Given the description of an element on the screen output the (x, y) to click on. 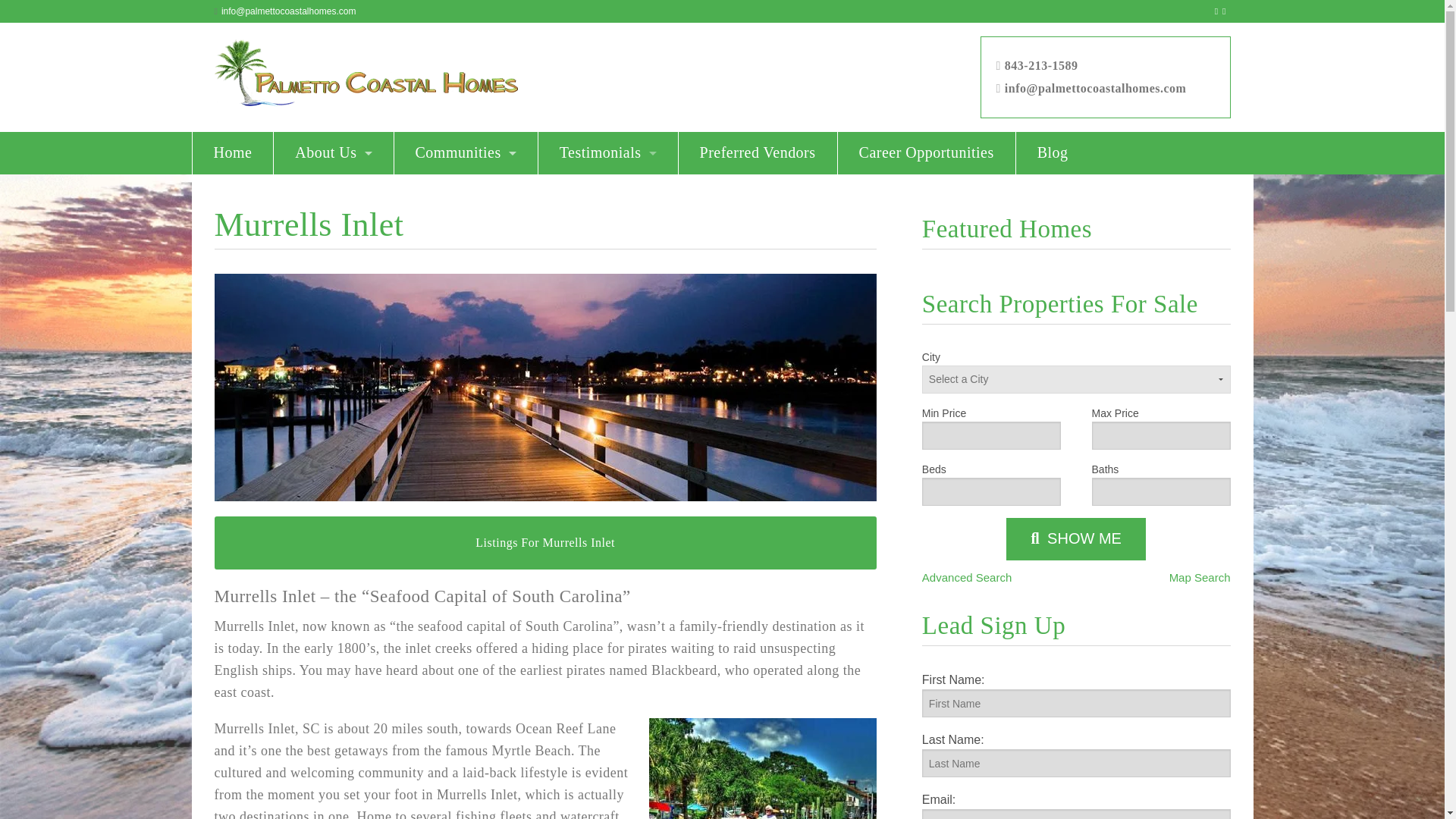
Murrells Inlet (465, 238)
Advanced Search (966, 578)
North Myrtle Beach (465, 322)
Preferred Vendors (757, 152)
Career Opportunities (926, 152)
Pawleys Island (465, 364)
Myrtle Beach (465, 280)
Map Search (1199, 578)
Surfside Beach (465, 407)
SHOW ME (1075, 538)
